Given the description of an element on the screen output the (x, y) to click on. 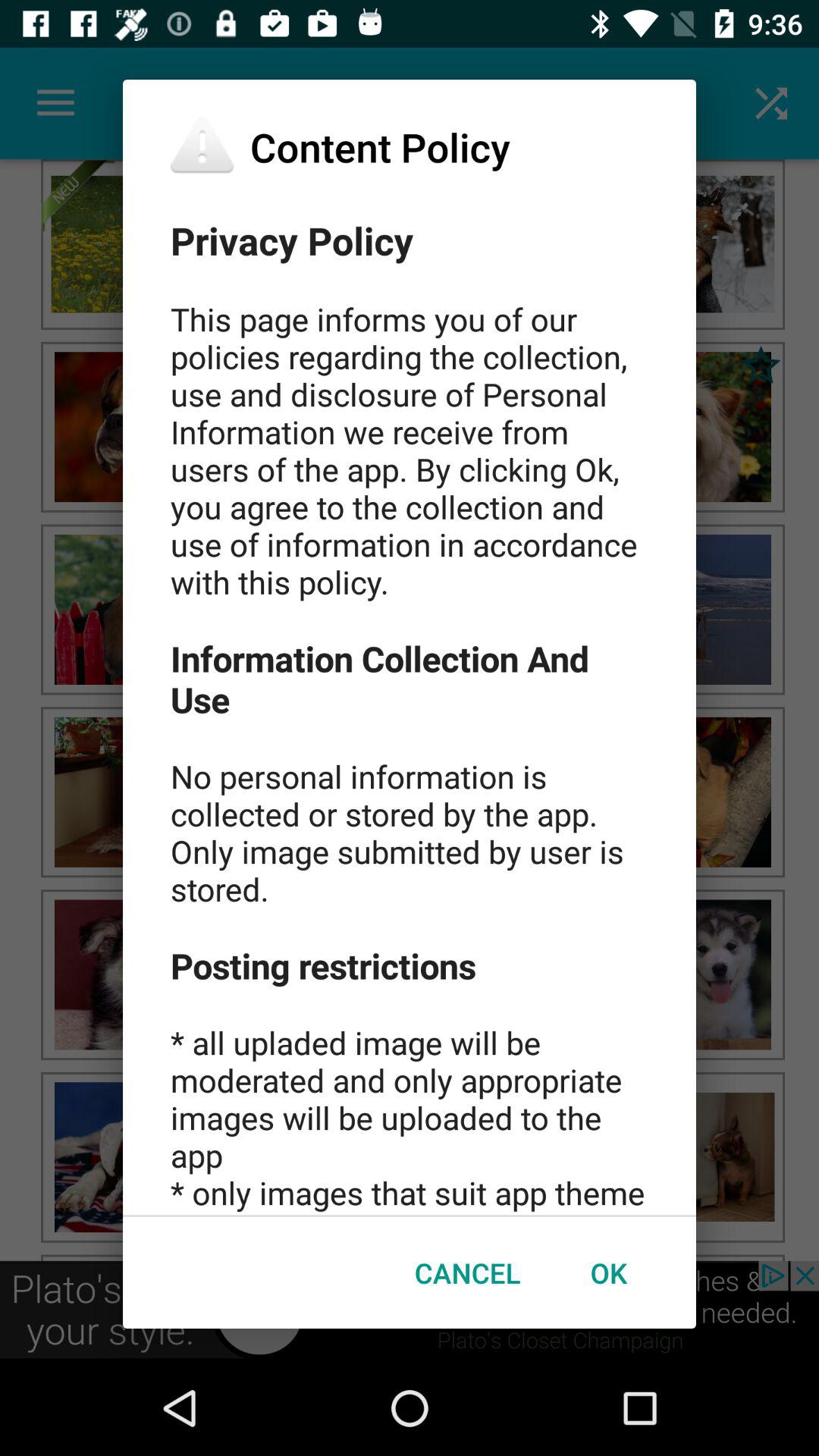
scroll to the cancel icon (467, 1272)
